Given the description of an element on the screen output the (x, y) to click on. 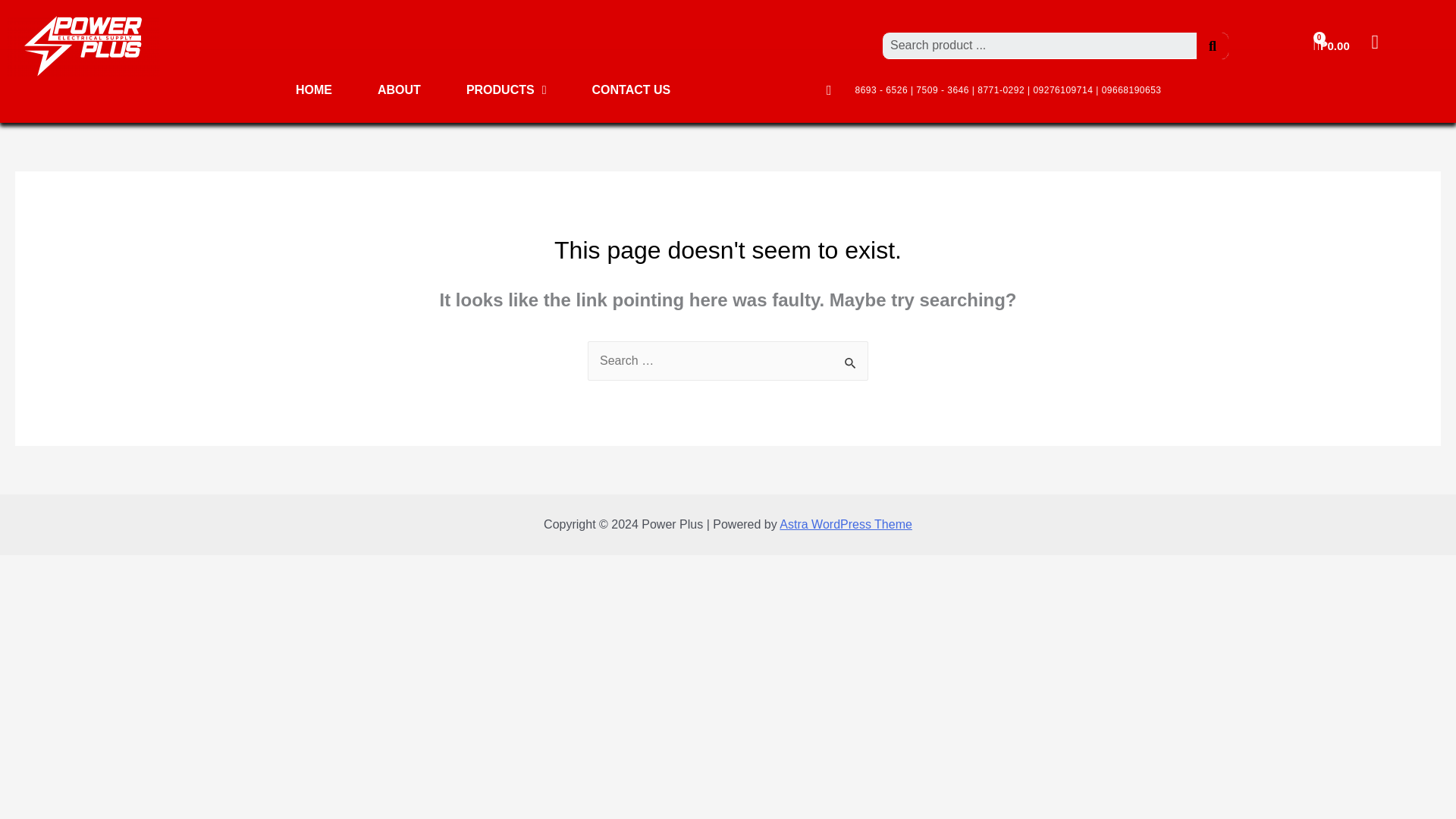
8693 - 6526 (882, 90)
CONTACT US (630, 89)
HOME (314, 89)
Search (1212, 45)
8771-0292 (1000, 90)
Search (850, 362)
09668190653 (1131, 90)
ABOUT (398, 89)
7509 - 3646 (942, 90)
Search (1039, 45)
Search (850, 362)
09276109714 (1062, 90)
PRODUCTS (506, 89)
